Given the description of an element on the screen output the (x, y) to click on. 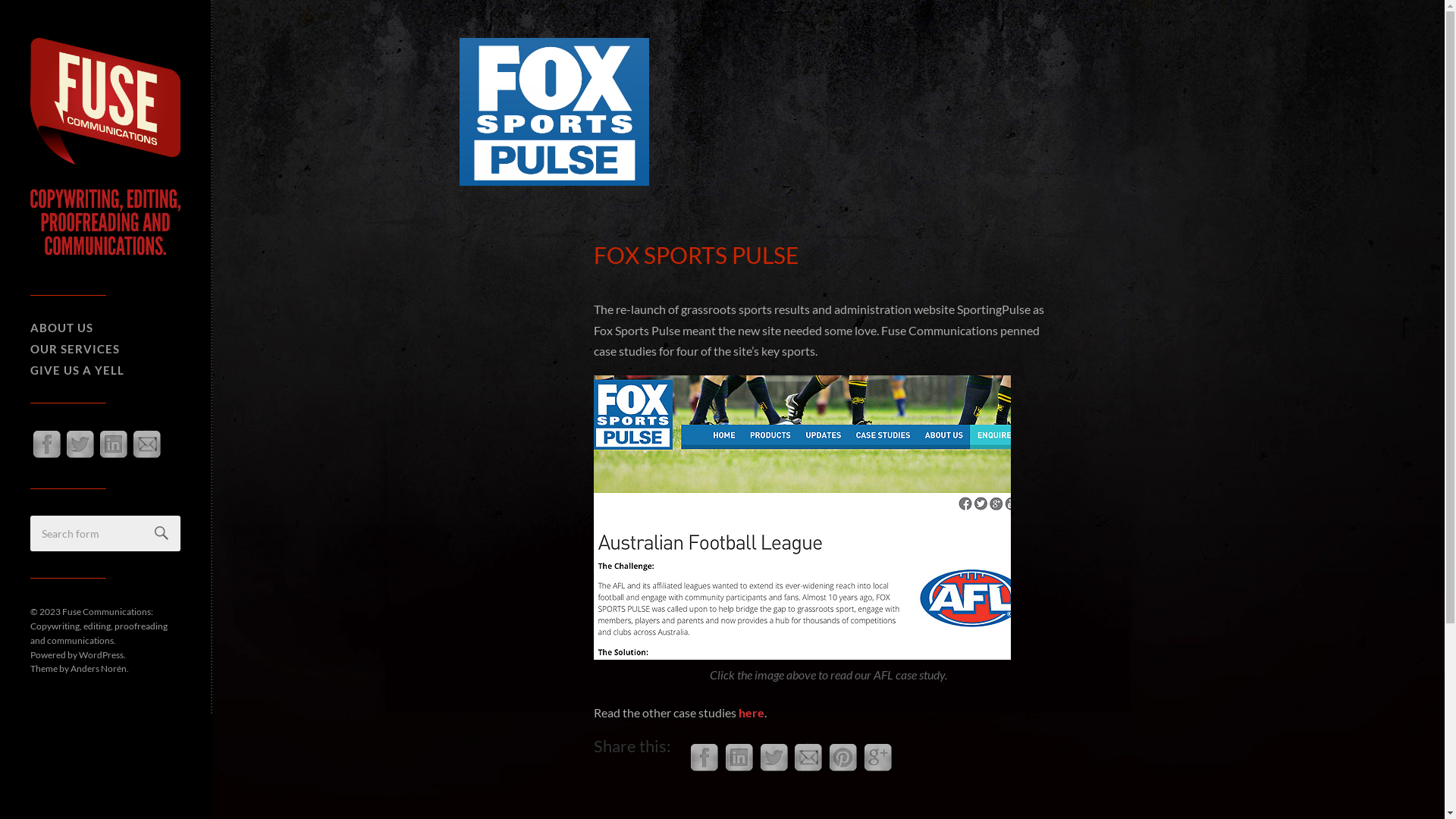
Facebook Element type: hover (46, 456)
Share via Email Element type: hover (808, 768)
Twitter Element type: hover (80, 456)
Share via Google Element type: hover (877, 768)
GIVE US A YELL Element type: text (77, 369)
LinkedIn Element type: hover (113, 456)
ABOUT US Element type: text (61, 327)
OUR SERVICES Element type: text (74, 348)
Share via Facebook Element type: hover (704, 768)
Share via Twitter Element type: hover (774, 768)
WordPress Element type: text (100, 654)
Share via LinkedIn Element type: hover (739, 768)
Email Element type: hover (146, 456)
here Element type: text (751, 712)
Share via Pinterest Element type: hover (843, 768)
